Given the description of an element on the screen output the (x, y) to click on. 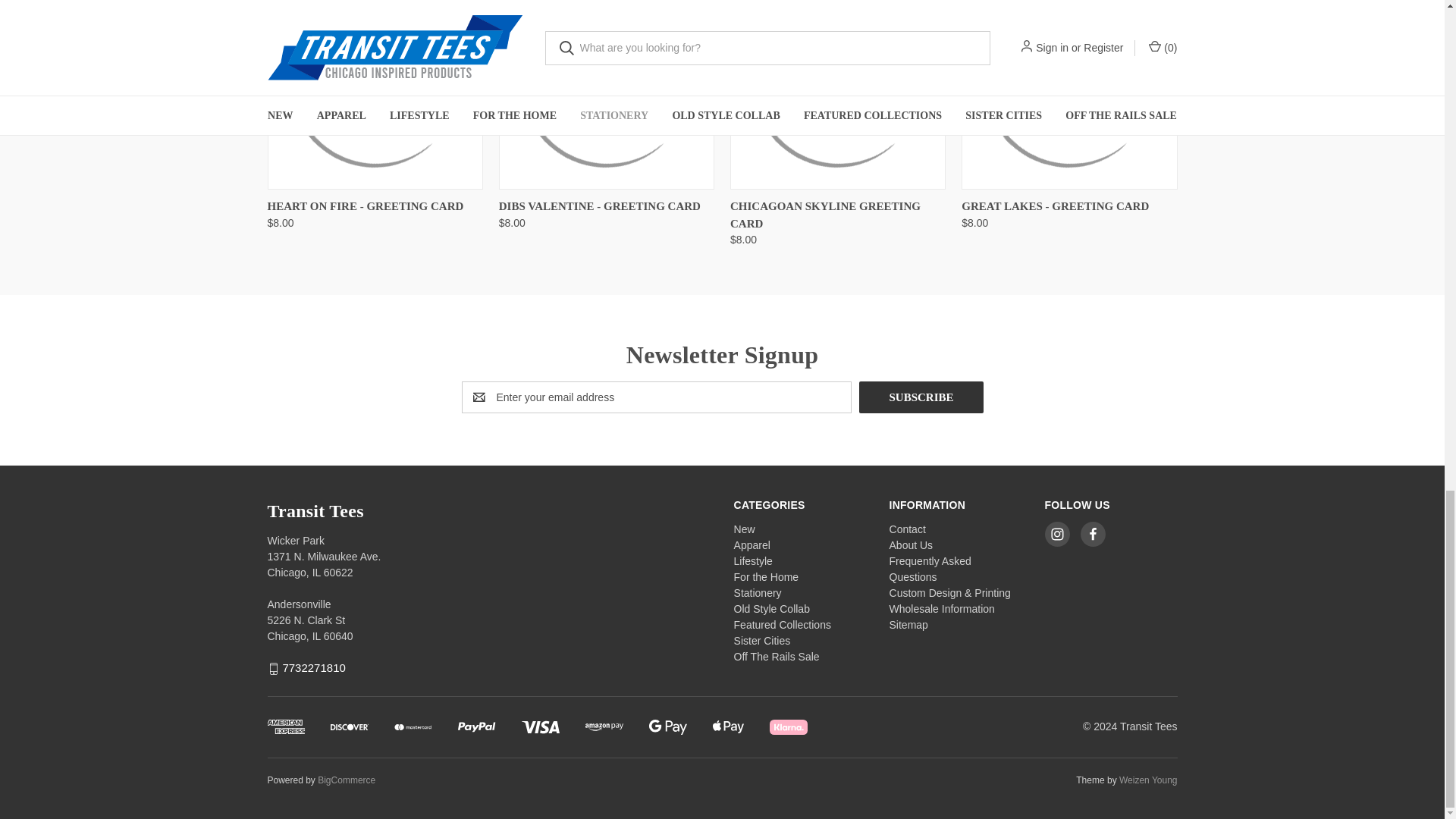
Great Lakes - Greeting Card (1068, 93)
Dibs Valentine - Greeting Card (606, 93)
Chicagoan Skyline Greeting Card (837, 93)
Subscribe (920, 397)
Heart on Fire - Greeting Card (374, 93)
